Given the description of an element on the screen output the (x, y) to click on. 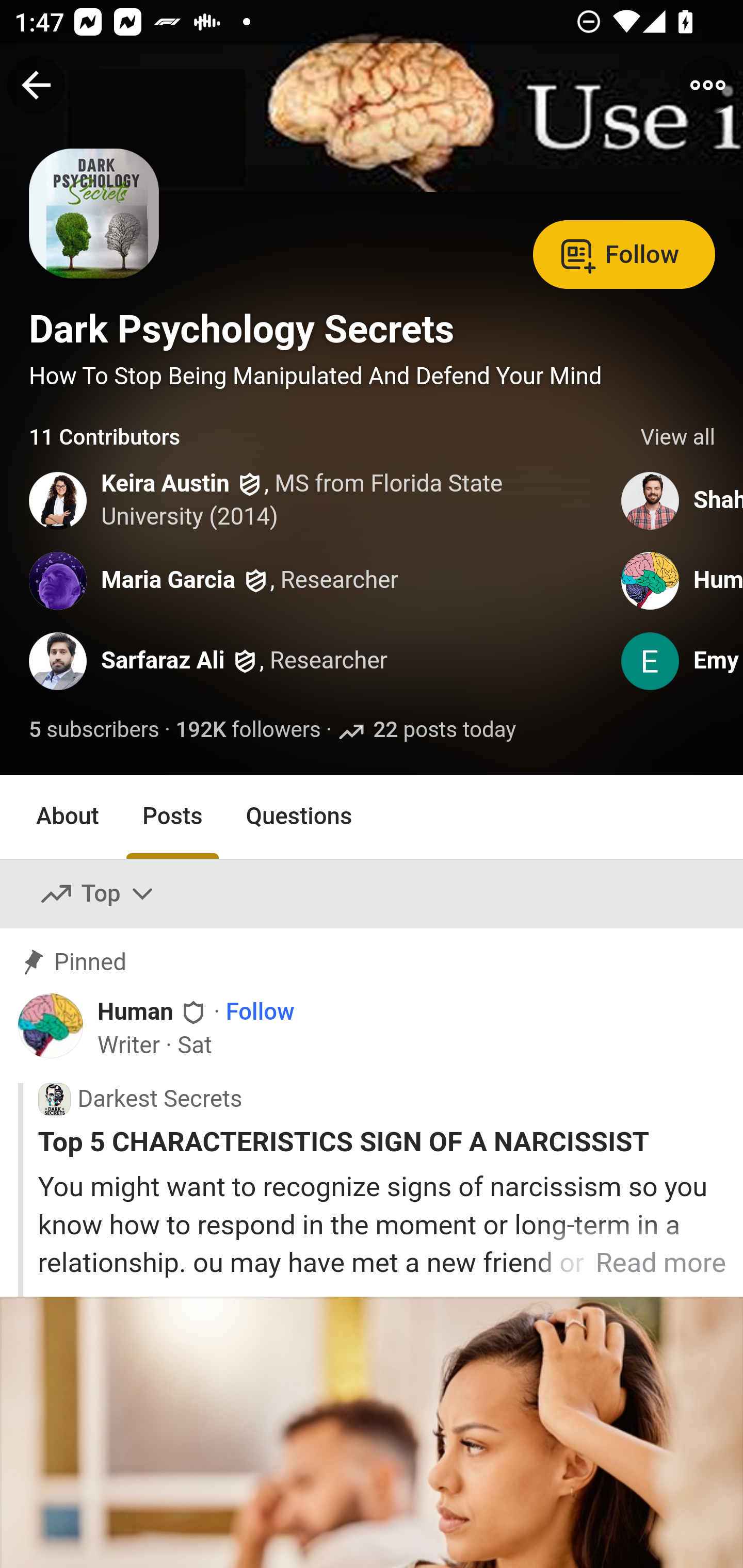
Follow (623, 252)
Dark Psychology Secrets (241, 329)
View all (677, 437)
Keira Austin (166, 484)
Profile photo for Keira Austin (58, 499)
Profile photo for Shahzad Sultan (650, 499)
Profile photo for Maria Garcia (58, 579)
Profile photo for Human (650, 579)
Maria Garcia (168, 579)
Profile photo for Sarfaraz Ali (58, 661)
Profile photo for Emy Watson (650, 661)
Sarfaraz Ali (163, 660)
About (68, 816)
Posts (171, 816)
Questions (299, 816)
Top (97, 894)
Profile photo for Human (50, 1025)
Human Human   (153, 1010)
Follow (259, 1011)
Icon for Darkest Secrets (54, 1099)
Top 5 CHARACTERISTICS SIGN OF A NARCISSIST (381, 1141)
